Given the description of an element on the screen output the (x, y) to click on. 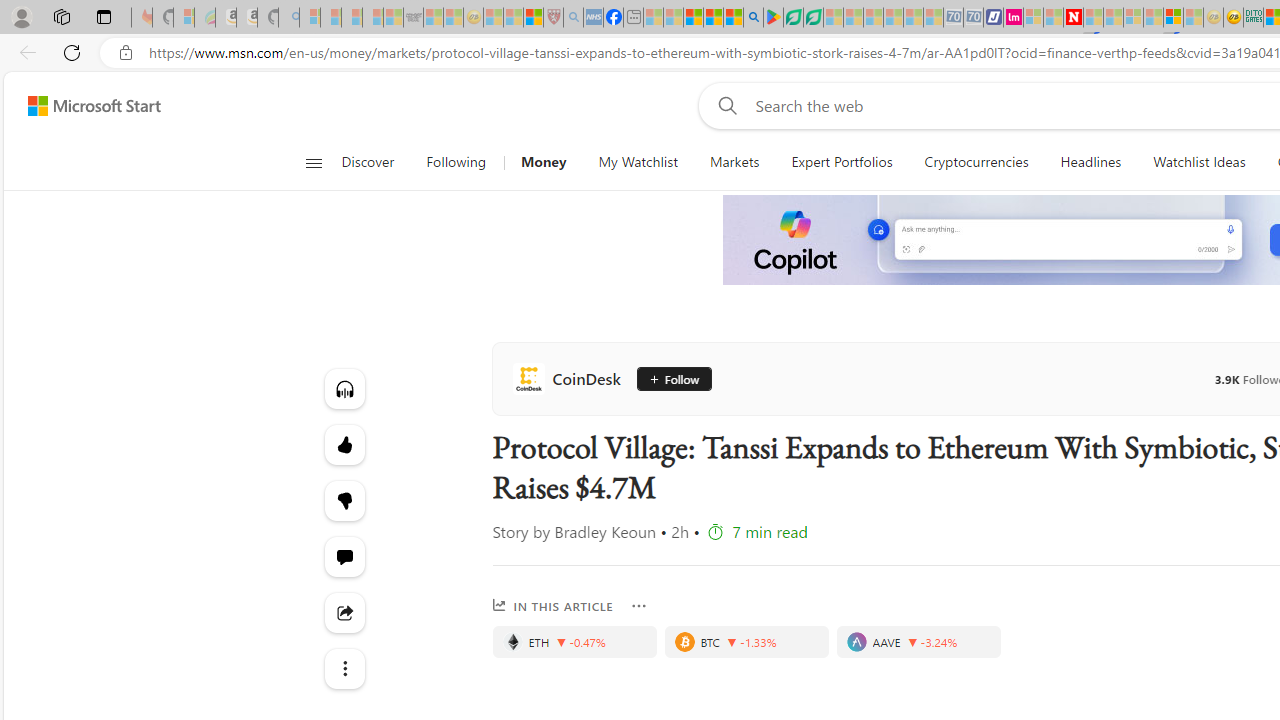
Watchlist Ideas (1199, 162)
Ethereum (512, 642)
